Given the description of an element on the screen output the (x, y) to click on. 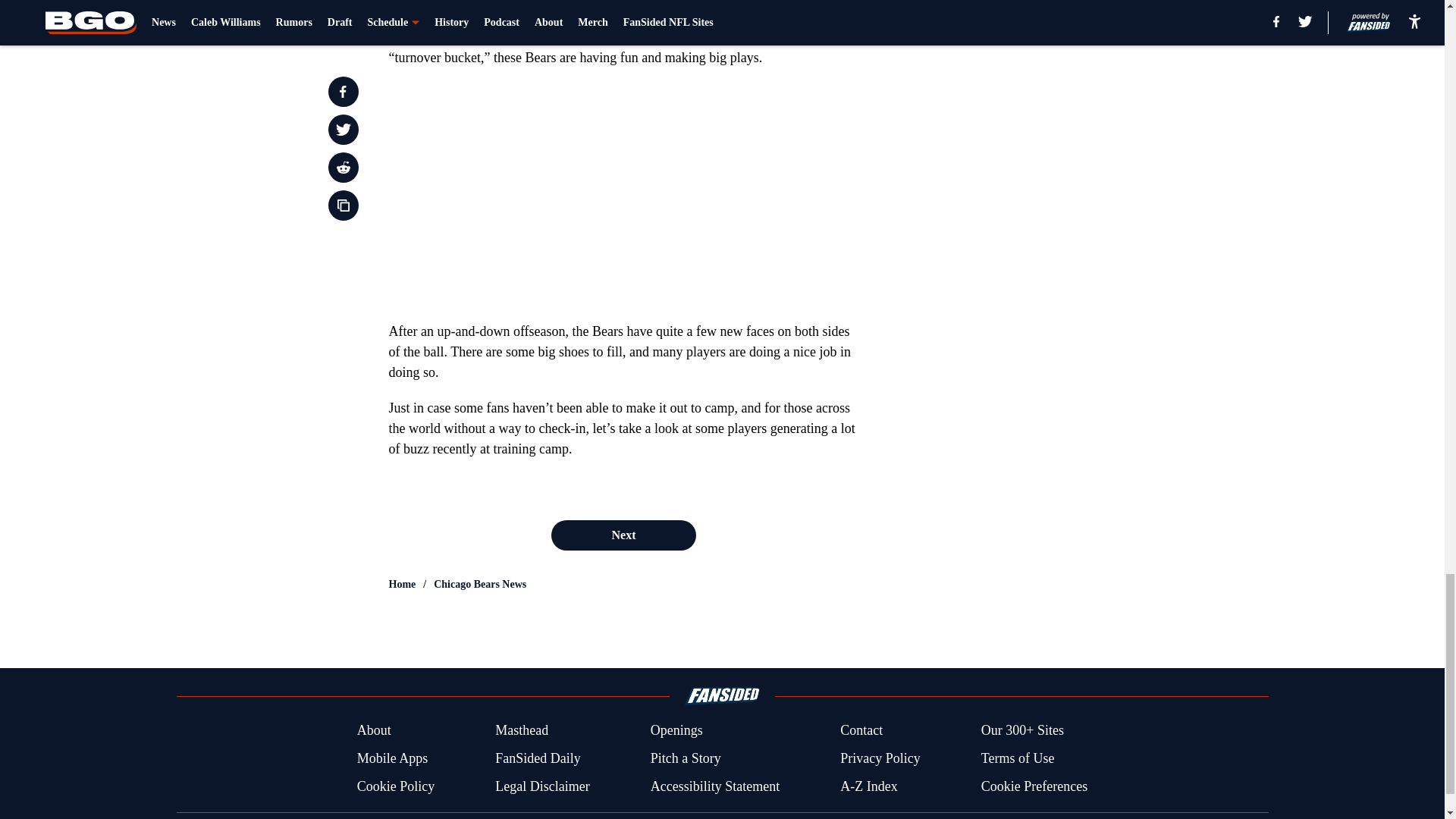
FanSided Daily (537, 758)
Contact (861, 730)
About (373, 730)
Masthead (521, 730)
Mobile Apps (392, 758)
Chicago Bears News (479, 584)
Home (401, 584)
Openings (676, 730)
Next (622, 535)
